Given the description of an element on the screen output the (x, y) to click on. 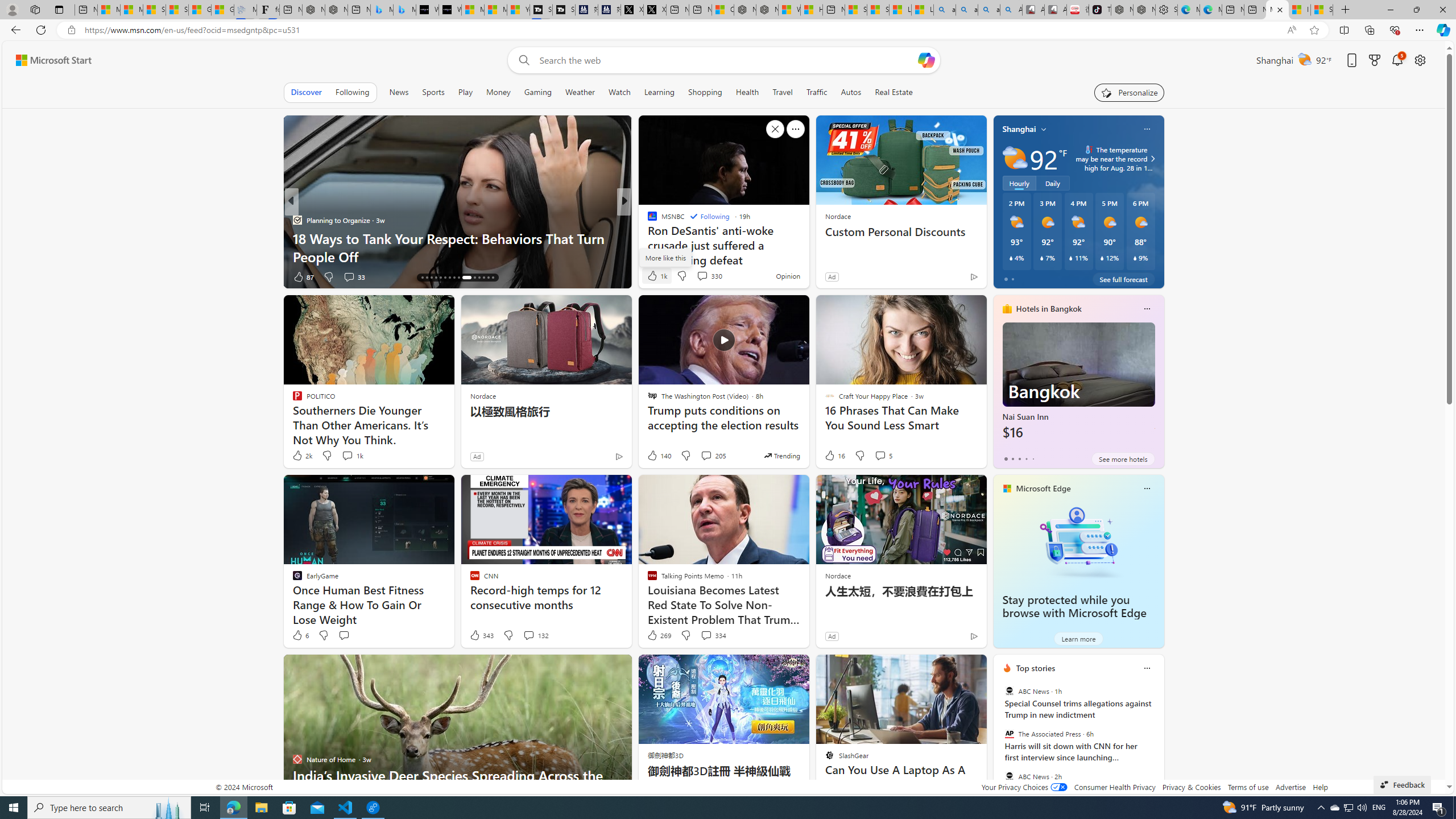
My location (1043, 128)
Microsoft Edge (1043, 488)
MUO (647, 219)
2k Like (301, 455)
tab-4 (1032, 458)
8 Like (651, 276)
View comments 5 Comment (879, 455)
View comments 334 Comment (705, 635)
